Given the description of an element on the screen output the (x, y) to click on. 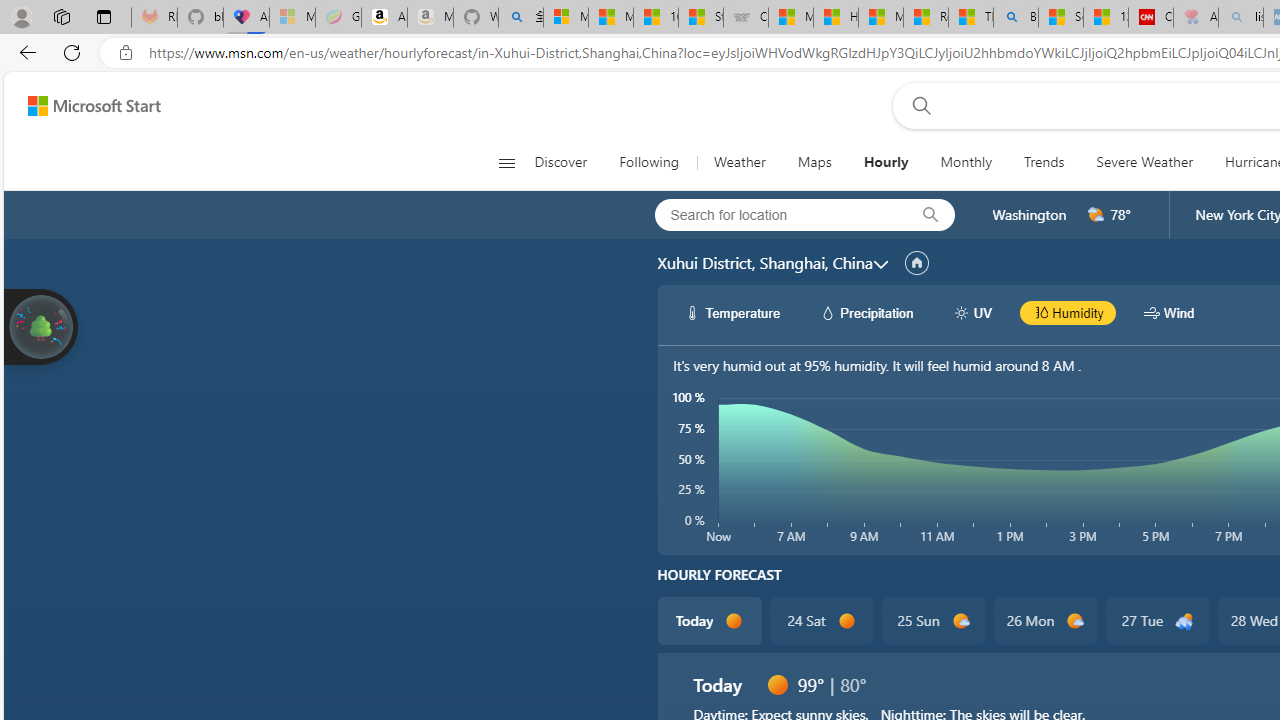
locationName/setHomeLocation (916, 263)
Join us in planting real trees to help our planet! (40, 325)
Arthritis: Ask Health Professionals - Sleeping (1195, 17)
Maps (814, 162)
Bing (1016, 17)
Trends (1044, 162)
26 Mon d1000 (1045, 620)
d2200 (1184, 621)
Severe Weather (1144, 162)
